Given the description of an element on the screen output the (x, y) to click on. 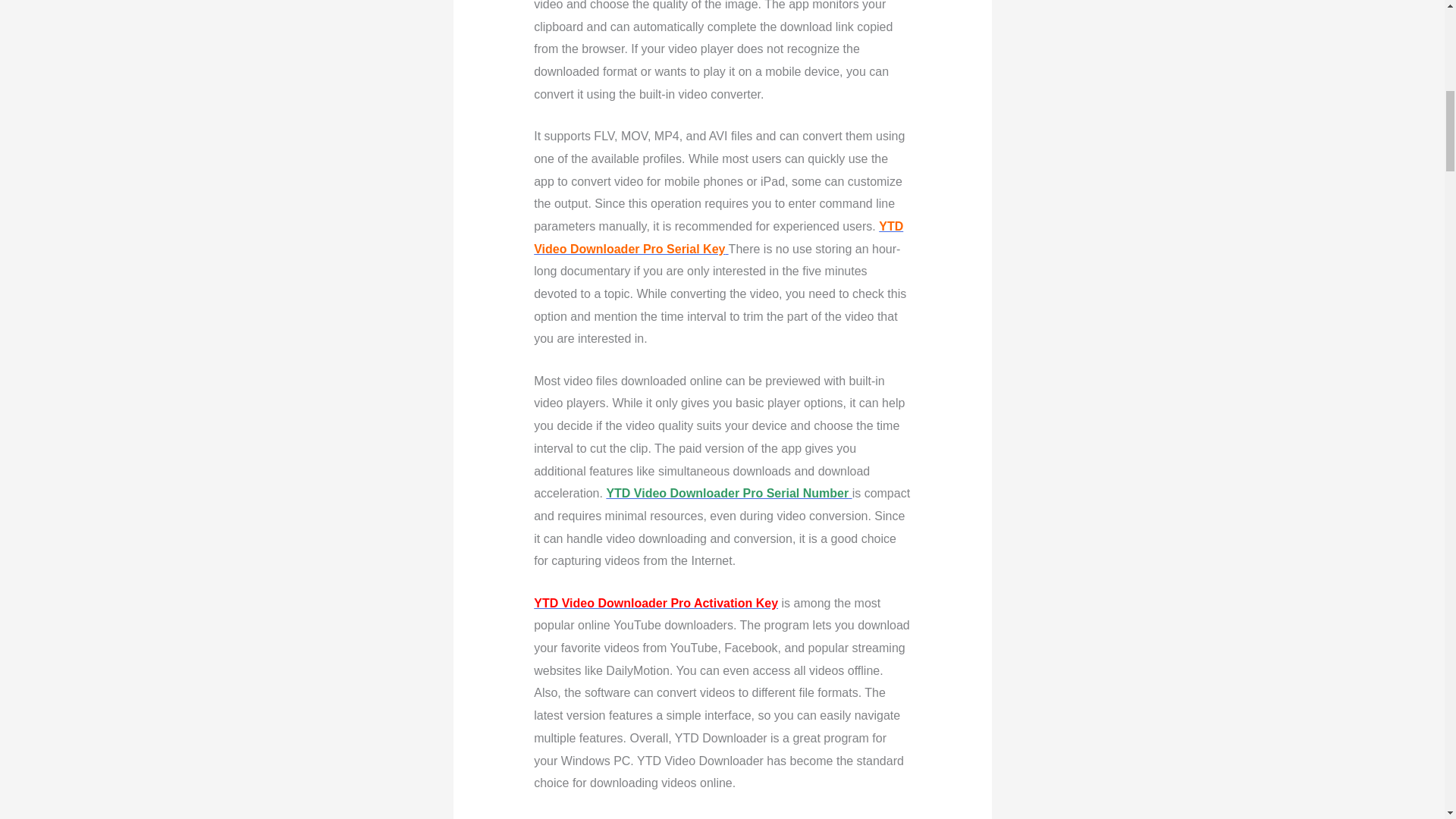
YTD Video Downloader Pro Serial Number (728, 492)
YTD Video Downloader Pro Activation Key (655, 603)
YTD Video Downloader Pro Serial Key (718, 237)
